Given the description of an element on the screen output the (x, y) to click on. 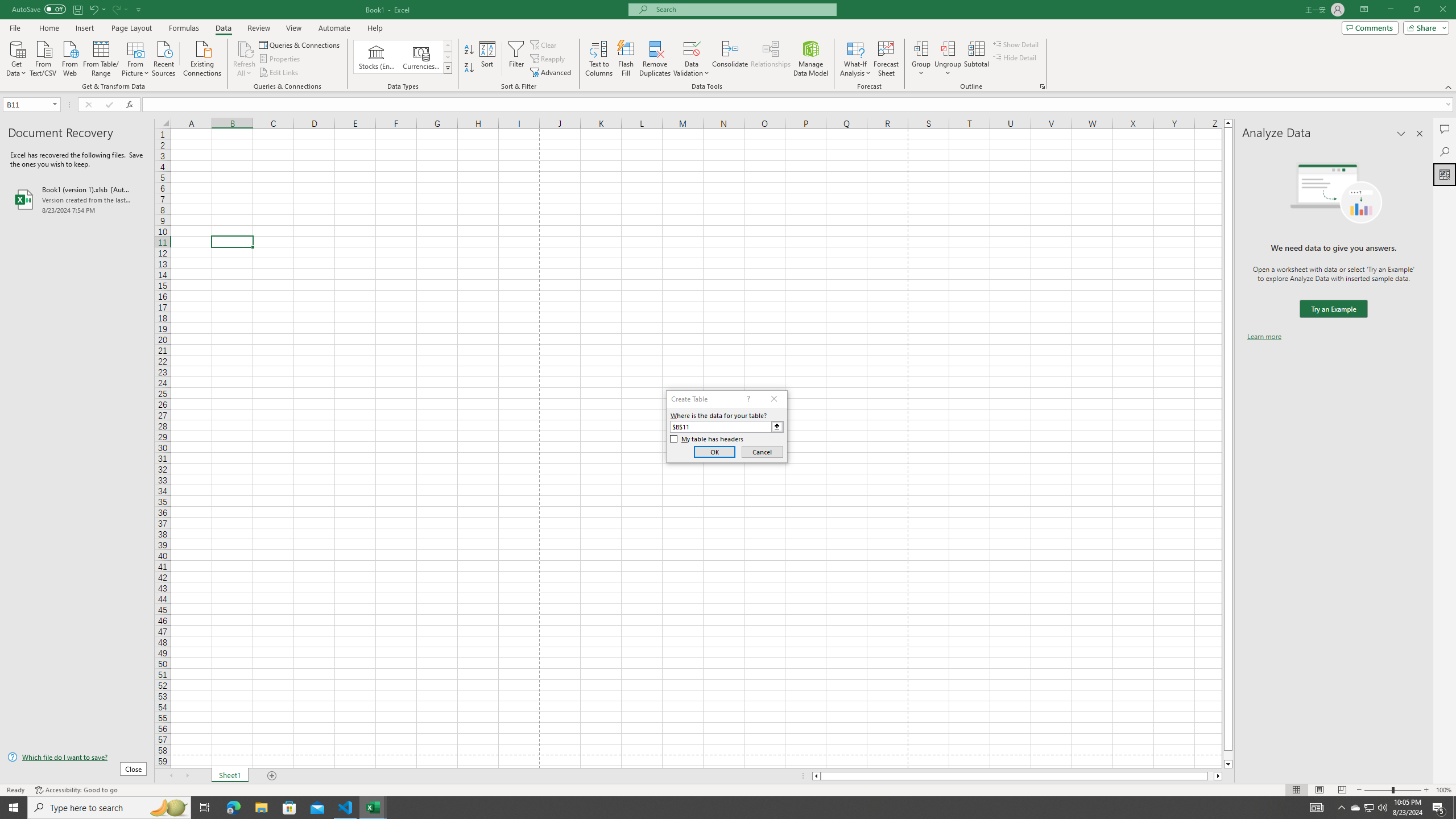
Undo (96, 9)
Text to Columns... (598, 58)
View (293, 28)
Analyze Data (1444, 173)
Task Pane Options (1400, 133)
Automate (334, 28)
Undo (92, 9)
Sheet1 (229, 775)
Line up (1228, 122)
Name Box (30, 104)
Close pane (1419, 133)
Restore Down (1416, 9)
Ribbon Display Options (1364, 9)
Redo (115, 9)
Normal (1296, 790)
